Given the description of an element on the screen output the (x, y) to click on. 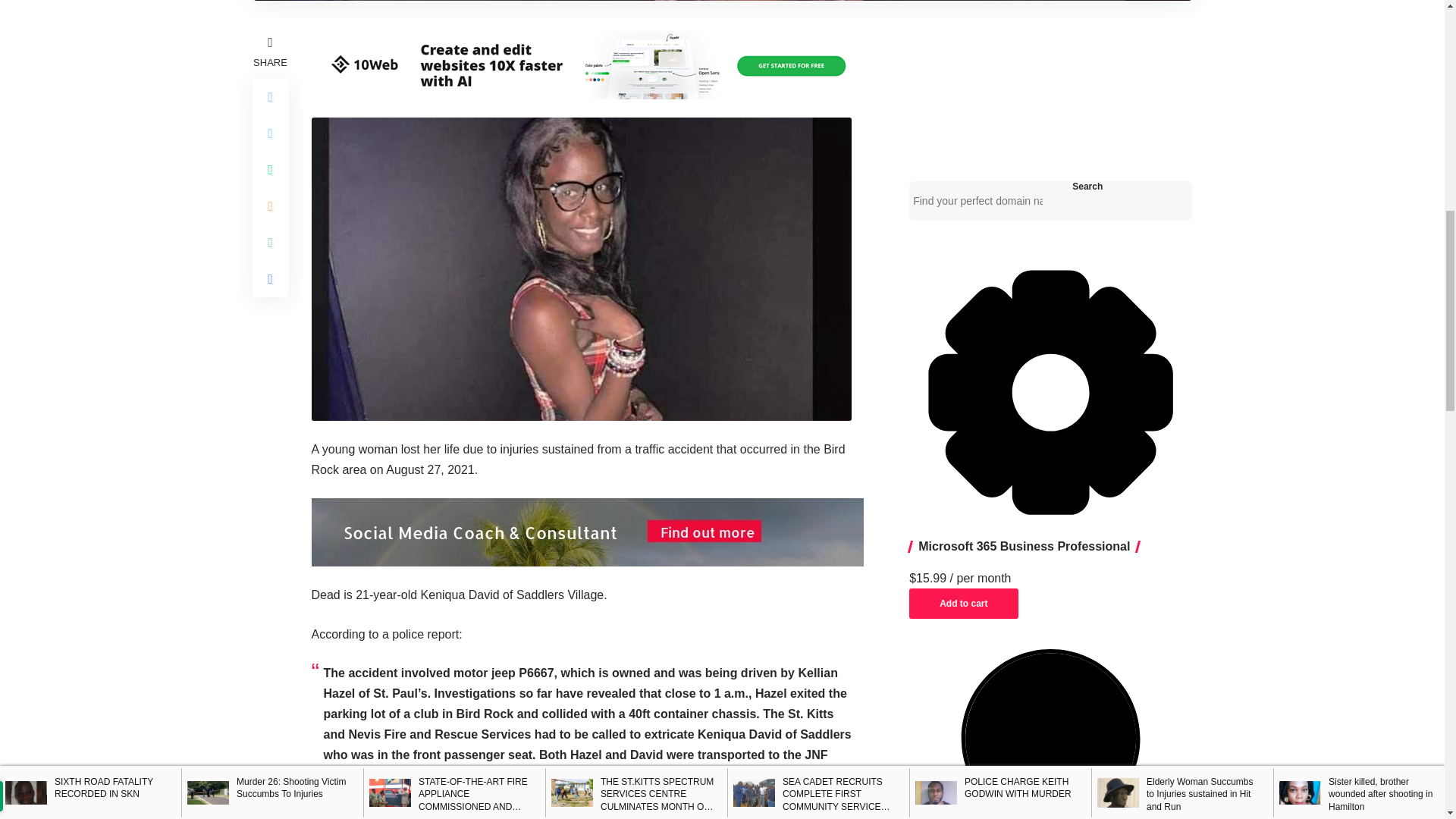
WordPress (1050, 734)
Search (1087, 185)
Search (1087, 185)
Additional Products (1050, 391)
